Given the description of an element on the screen output the (x, y) to click on. 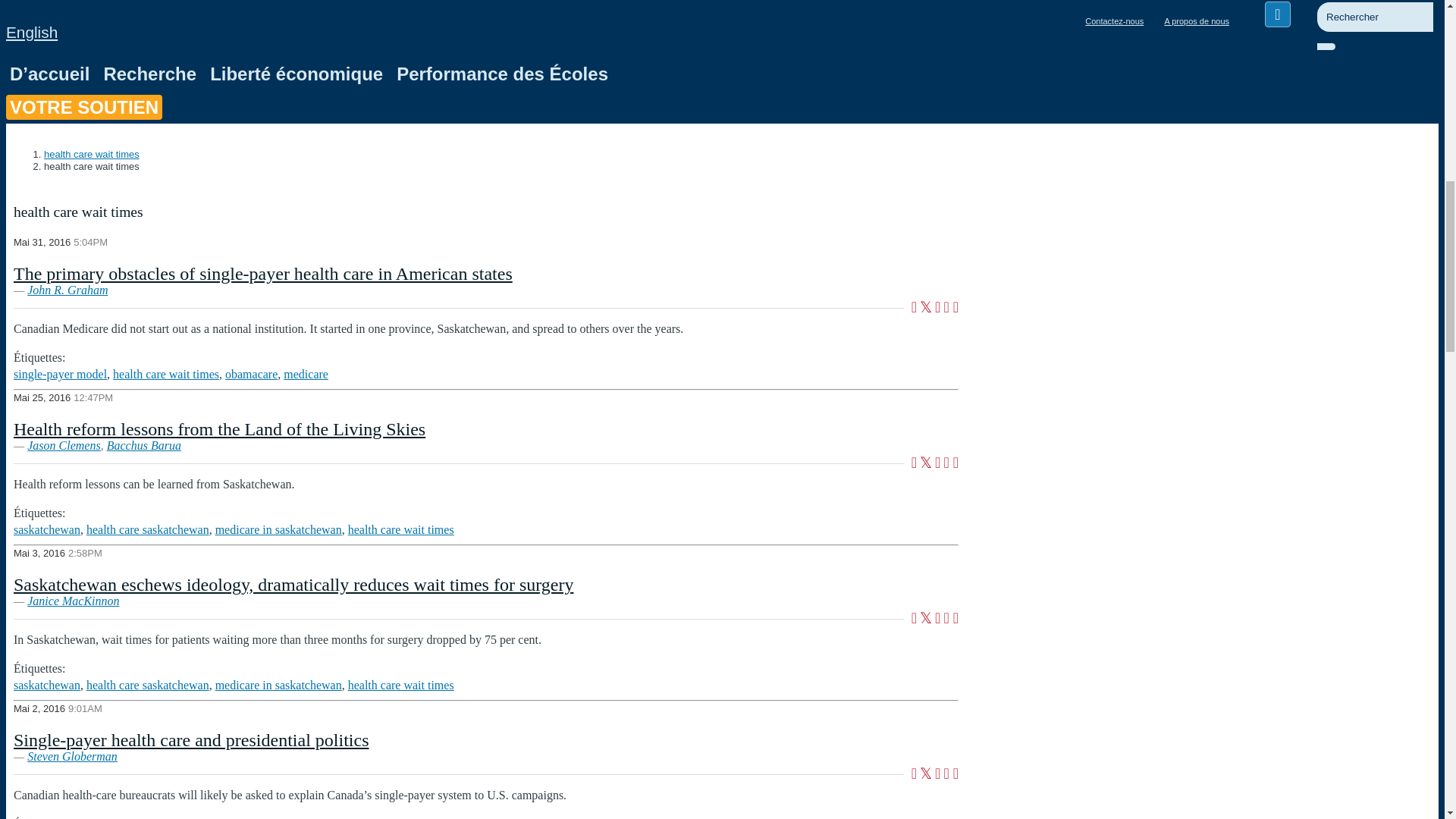
health care wait times (166, 373)
English (31, 31)
health care wait times (91, 153)
A propos de nous (1195, 20)
health care wait times (400, 529)
health care wait times (400, 684)
Rechercher (1349, 53)
health care saskatchewan (147, 529)
Contactez-nous (1114, 20)
VOTRE SOUTIEN (83, 107)
saskatchewan (46, 529)
Votre Soutien (83, 107)
medicare (306, 373)
medicare in saskatchewan (278, 529)
